Given the description of an element on the screen output the (x, y) to click on. 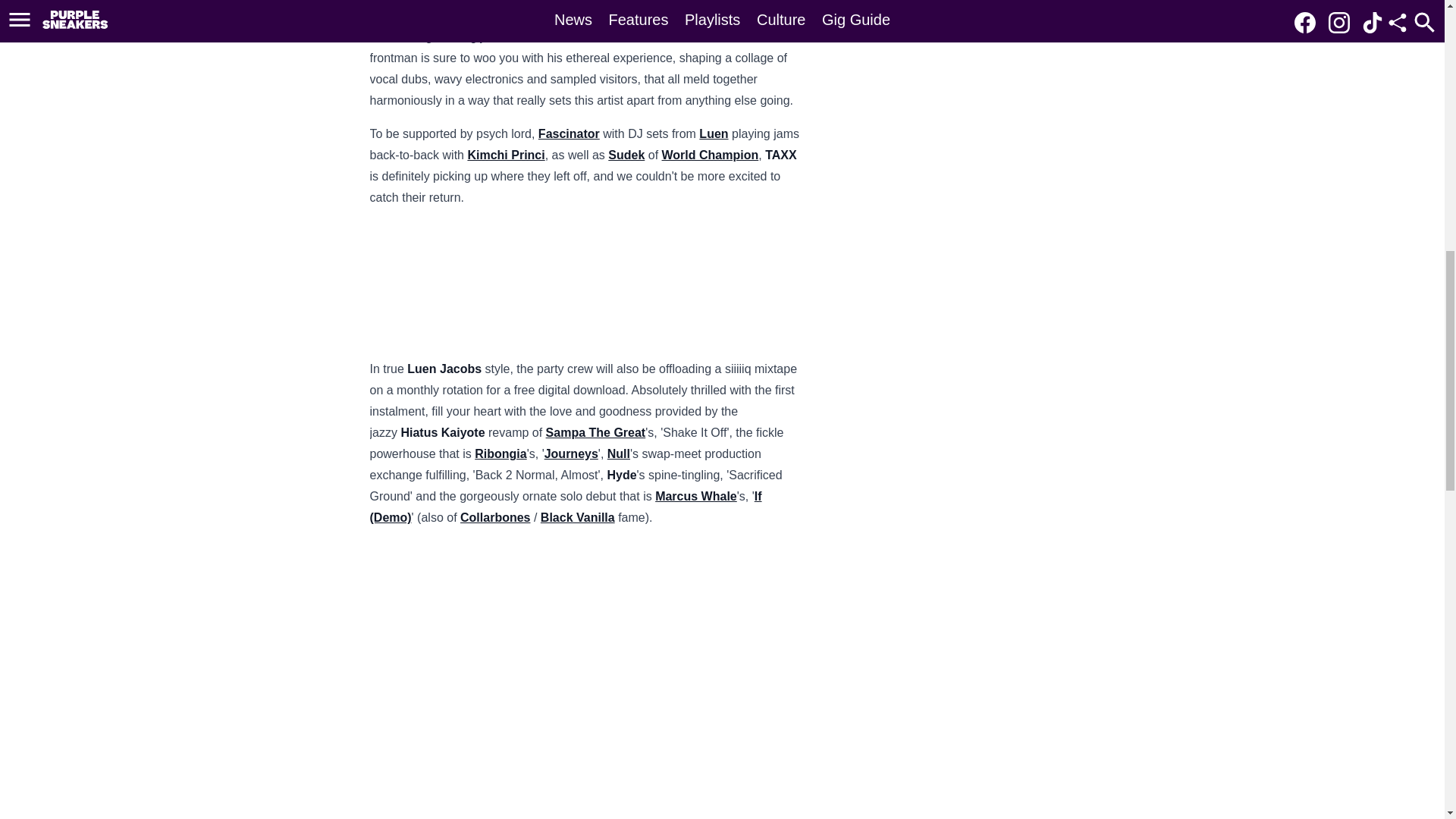
World Champion (710, 154)
Journeys (571, 453)
Luen (713, 133)
Ribongia (499, 453)
Fascinator (568, 133)
Sampa The Great (596, 431)
Sudek (626, 154)
Bumblebeez (729, 36)
Collarbones (494, 517)
Marcus Whale (695, 495)
Kimchi Princi (505, 154)
Null (618, 453)
Black Vanilla (577, 517)
